Given the description of an element on the screen output the (x, y) to click on. 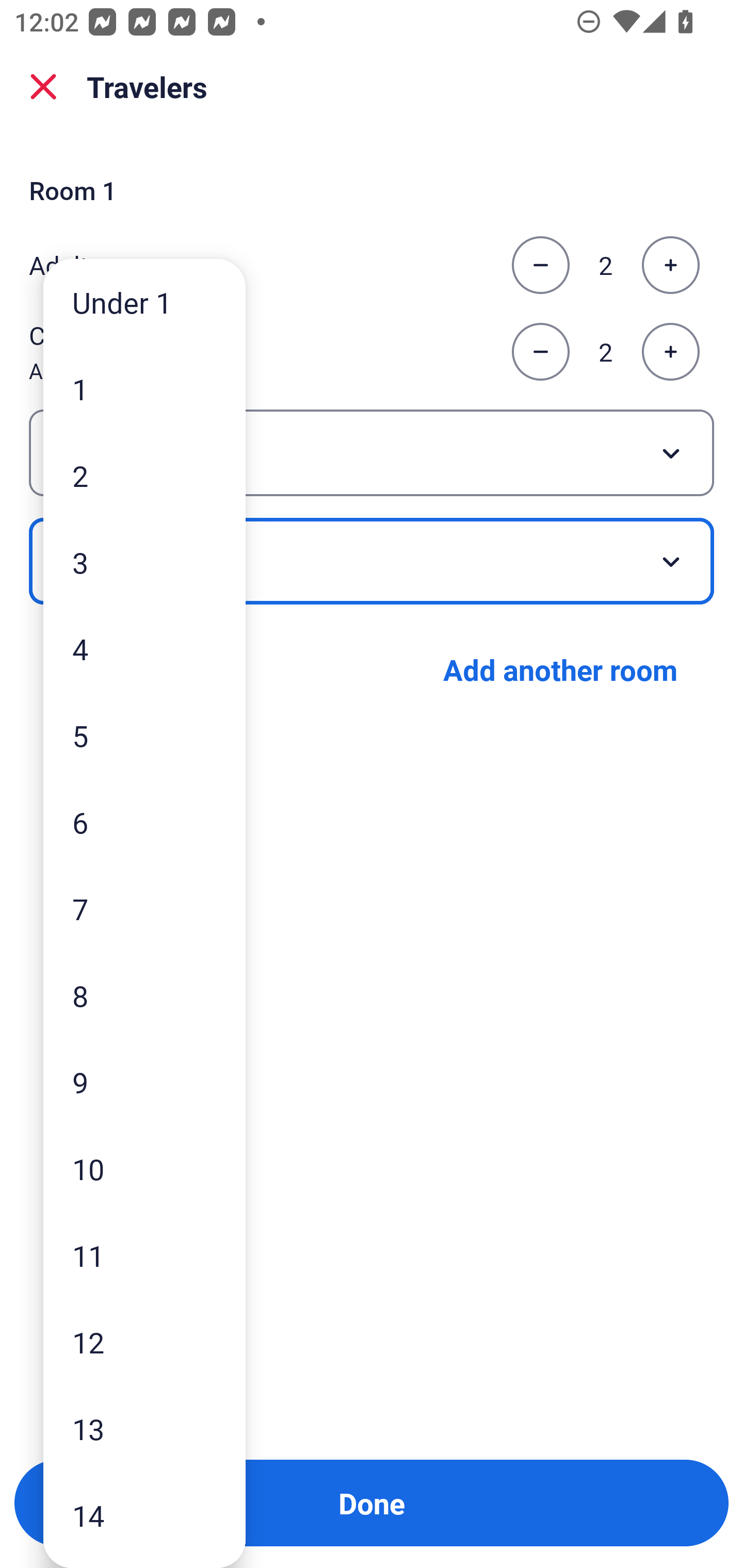
Under 1 (144, 301)
1 (144, 388)
2 (144, 475)
3 (144, 562)
4 (144, 648)
5 (144, 735)
6 (144, 822)
7 (144, 908)
8 (144, 994)
9 (144, 1081)
10 (144, 1168)
11 (144, 1255)
12 (144, 1342)
13 (144, 1429)
14 (144, 1515)
